Given the description of an element on the screen output the (x, y) to click on. 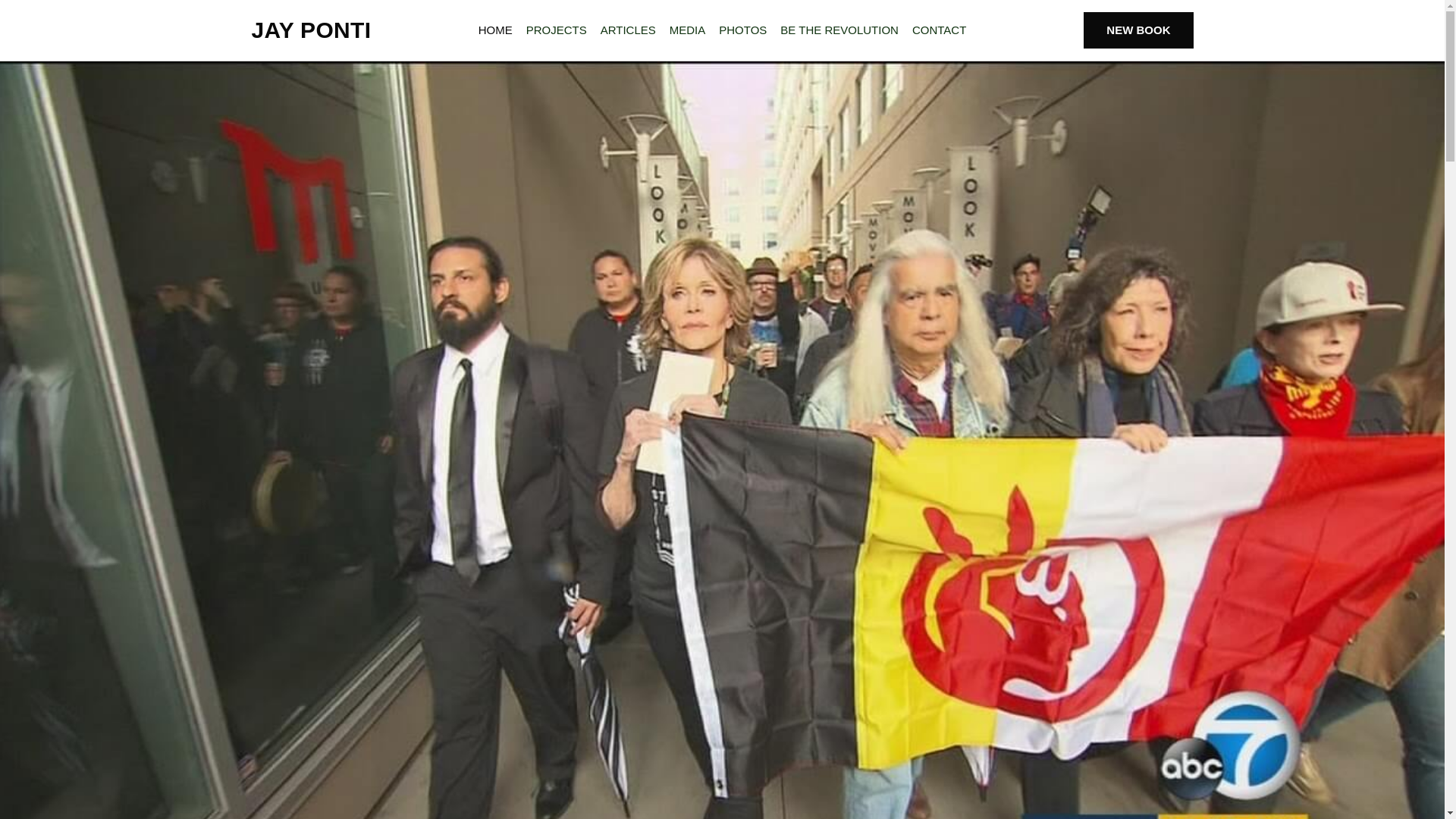
ARTICLES (628, 29)
BE THE REVOLUTION (839, 29)
CONTACT (938, 29)
MEDIA (687, 29)
PHOTOS (742, 29)
PROJECTS (556, 29)
JAY PONTI (311, 30)
NEW BOOK (1137, 30)
HOME (495, 29)
